Given the description of an element on the screen output the (x, y) to click on. 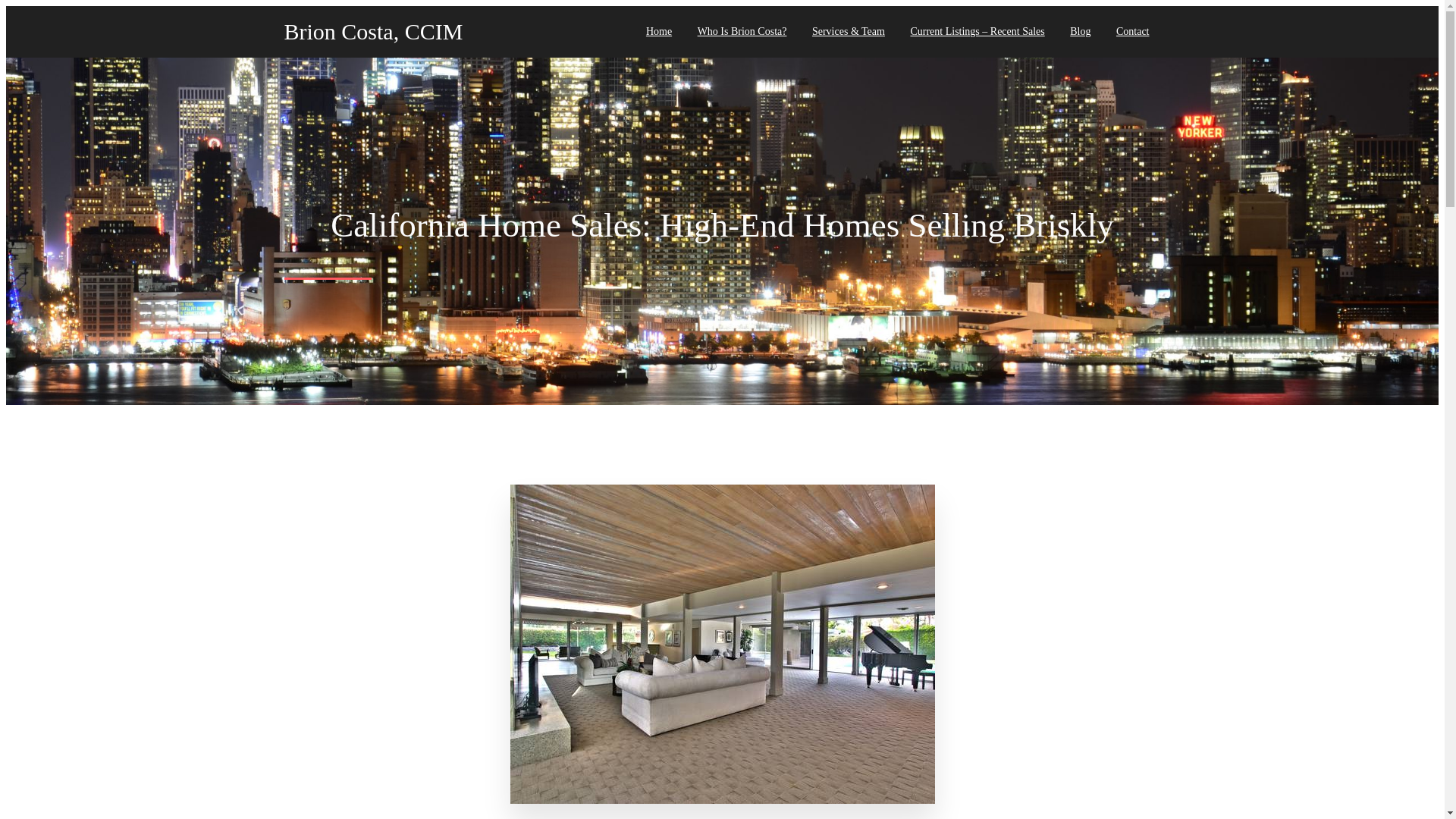
Contact (1132, 31)
Brion Costa, CCIM (409, 31)
Who Is Brion Costa? (741, 31)
Home (658, 31)
Blog (1080, 31)
